Given the description of an element on the screen output the (x, y) to click on. 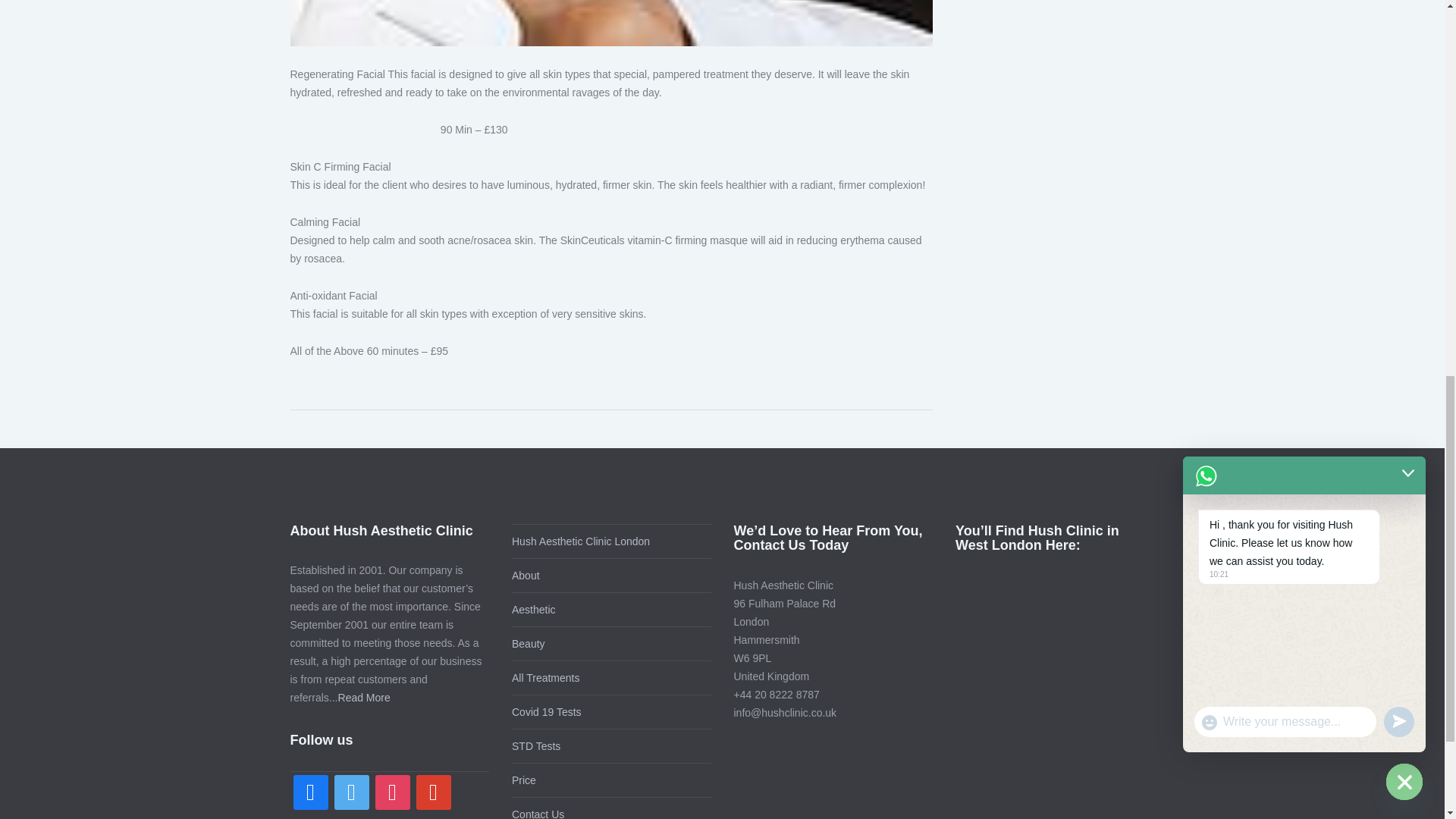
STD Tests (536, 746)
Medical Facials Skinceuticals (611, 22)
twitter (350, 791)
Covid 19 Tests (546, 711)
Hush Aesthetic Clinic London (580, 541)
Medical Facials Skinceuticals (144, 22)
Friend me on Facebook (309, 791)
Read More (363, 697)
Follow Me (350, 791)
Contact Us (538, 813)
